Given the description of an element on the screen output the (x, y) to click on. 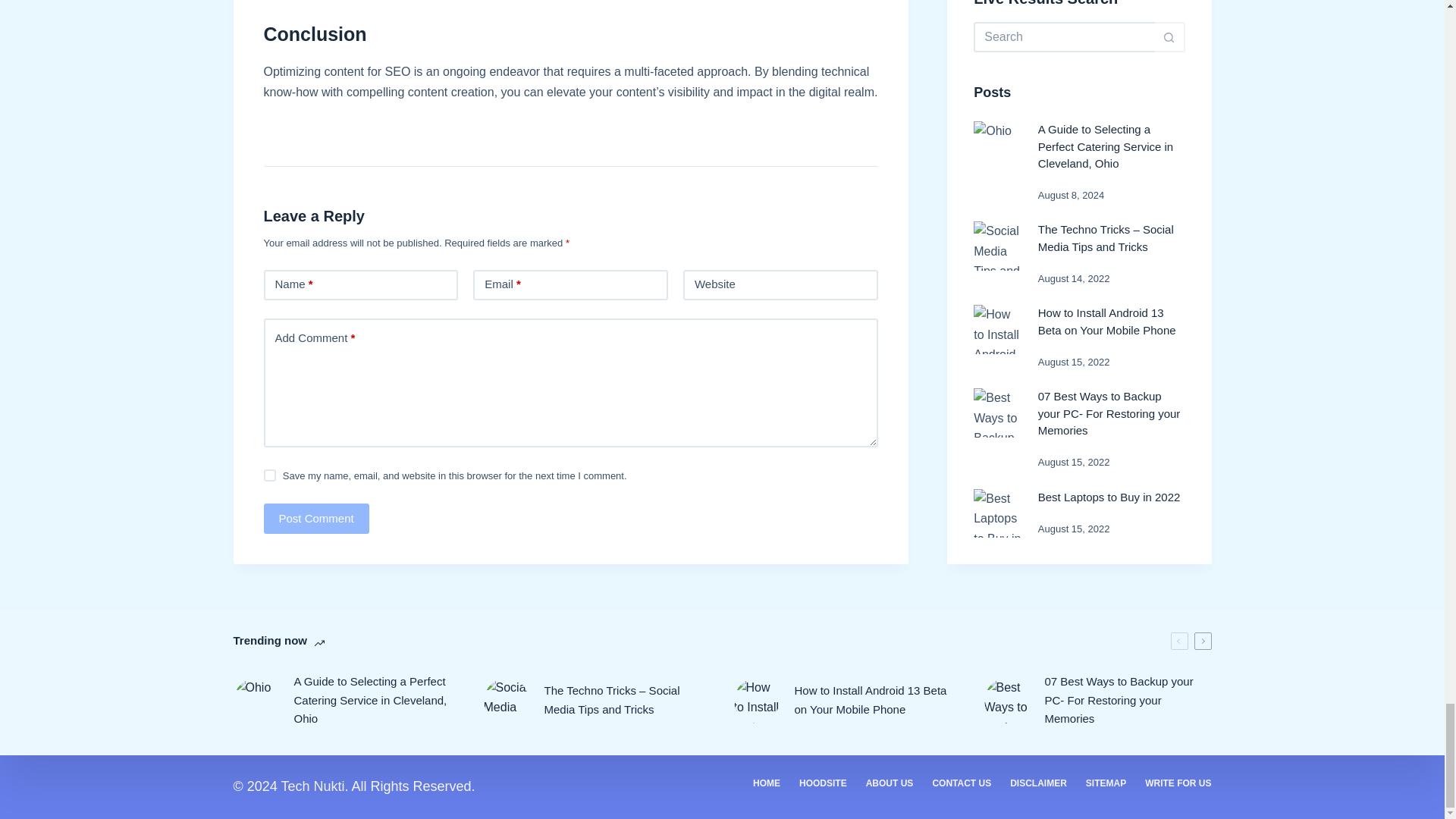
Post Comment (316, 518)
yes (269, 475)
